Given the description of an element on the screen output the (x, y) to click on. 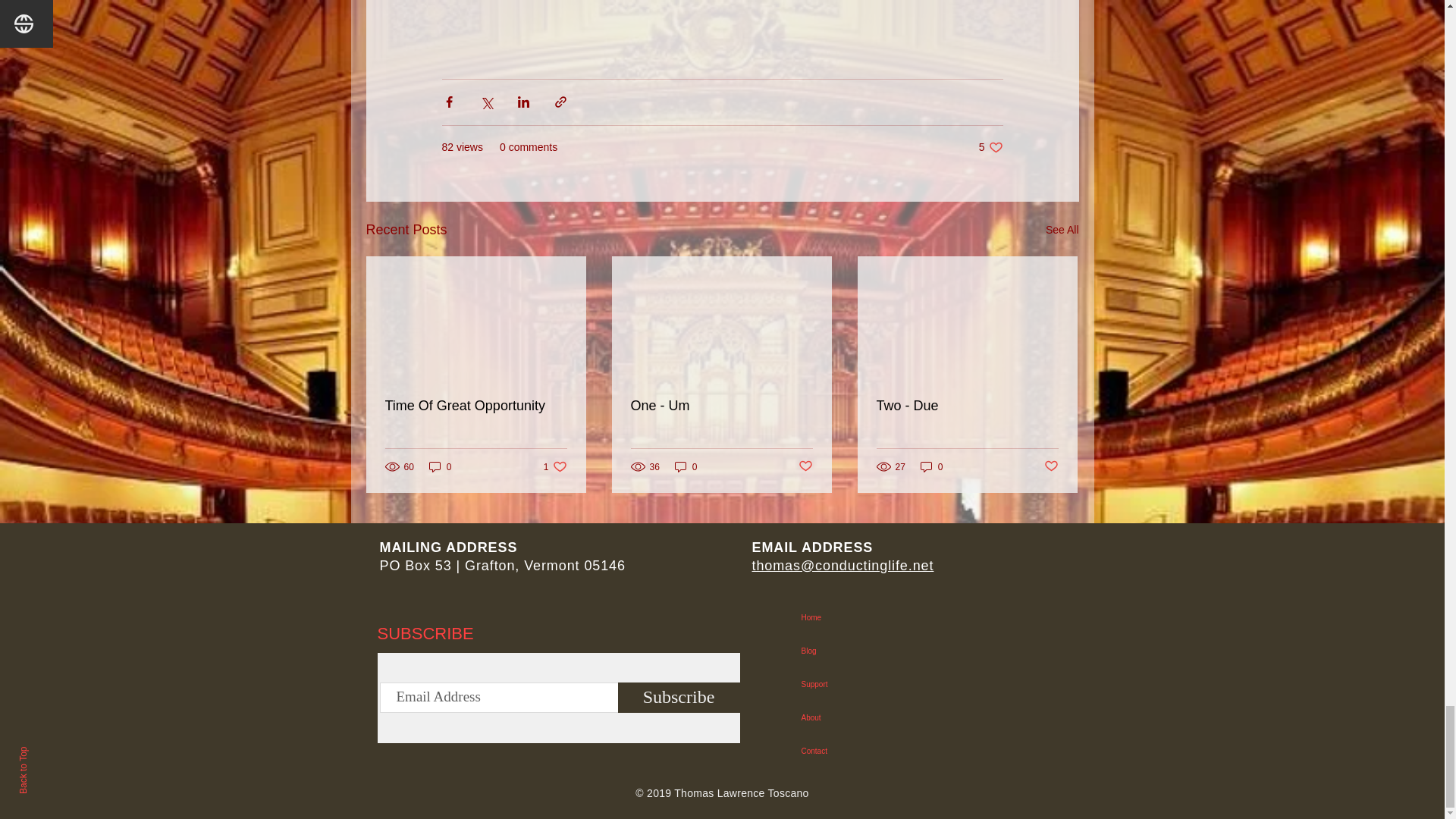
Time Of Great Opportunity (476, 406)
0 (931, 466)
Contact (990, 147)
Post not marked as liked (913, 751)
0 (1050, 466)
One - Um (685, 466)
Two - Due (721, 406)
Subscribe (967, 406)
Home (555, 466)
Post not marked as liked (678, 697)
Support (913, 617)
Blog (804, 466)
About (913, 684)
